Given the description of an element on the screen output the (x, y) to click on. 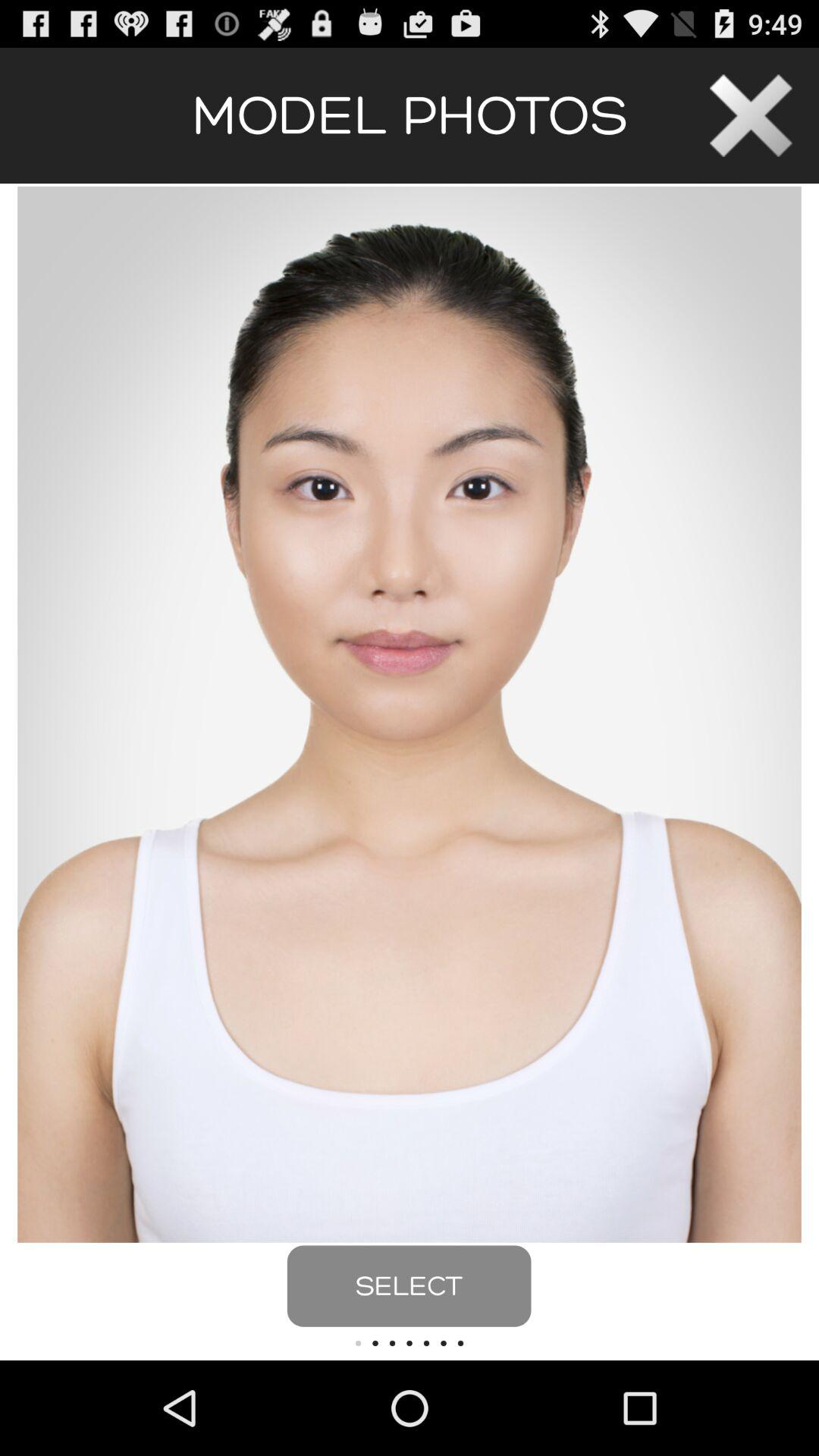
close page (751, 115)
